Given the description of an element on the screen output the (x, y) to click on. 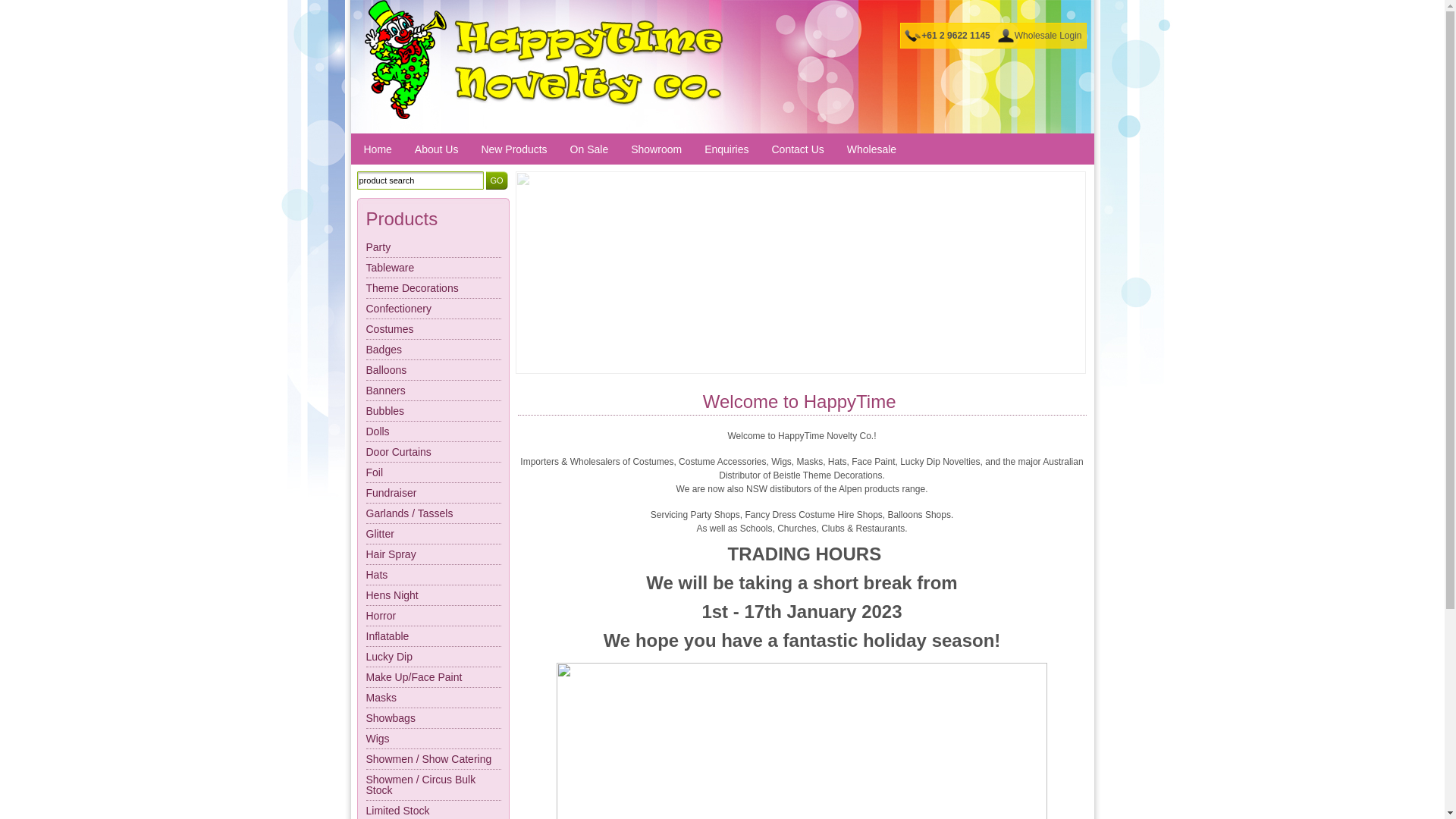
Hats Element type: text (432, 574)
New Products Element type: text (513, 149)
Contact Us Element type: text (796, 149)
About Us Element type: text (436, 149)
GO Element type: text (496, 180)
Home Element type: text (376, 149)
Glitter Element type: text (432, 534)
Foil Element type: text (432, 472)
Theme Decorations Element type: text (432, 288)
Tableware Element type: text (432, 267)
Wholesale Login Element type: text (1048, 35)
Hens Night Element type: text (432, 595)
Showmen / Show Catering Element type: text (432, 759)
Horror Element type: text (432, 615)
Badges Element type: text (432, 349)
Garlands / Tassels Element type: text (432, 513)
Banners Element type: text (432, 390)
happytime Element type: hover (432, 203)
Hair Spray Element type: text (432, 554)
Door Curtains Element type: text (432, 452)
Costumes Element type: text (432, 329)
Balloons Element type: text (432, 370)
Confectionery Element type: text (432, 308)
Showbags Element type: text (432, 718)
Wholesale Element type: text (871, 149)
Inflatable Element type: text (432, 636)
Wigs Element type: text (432, 738)
Showroom Element type: text (656, 149)
Masks Element type: text (432, 697)
Bubbles Element type: text (432, 411)
Dolls Element type: text (432, 431)
Lucky Dip Element type: text (432, 656)
On Sale Element type: text (589, 149)
Party Element type: text (432, 247)
Enquiries Element type: text (726, 149)
HappyTime Novelty Co. Element type: hover (543, 59)
Showmen / Circus Bulk Stock Element type: text (432, 784)
Make Up/Face Paint Element type: text (432, 677)
Fundraiser Element type: text (432, 493)
